Given the description of an element on the screen output the (x, y) to click on. 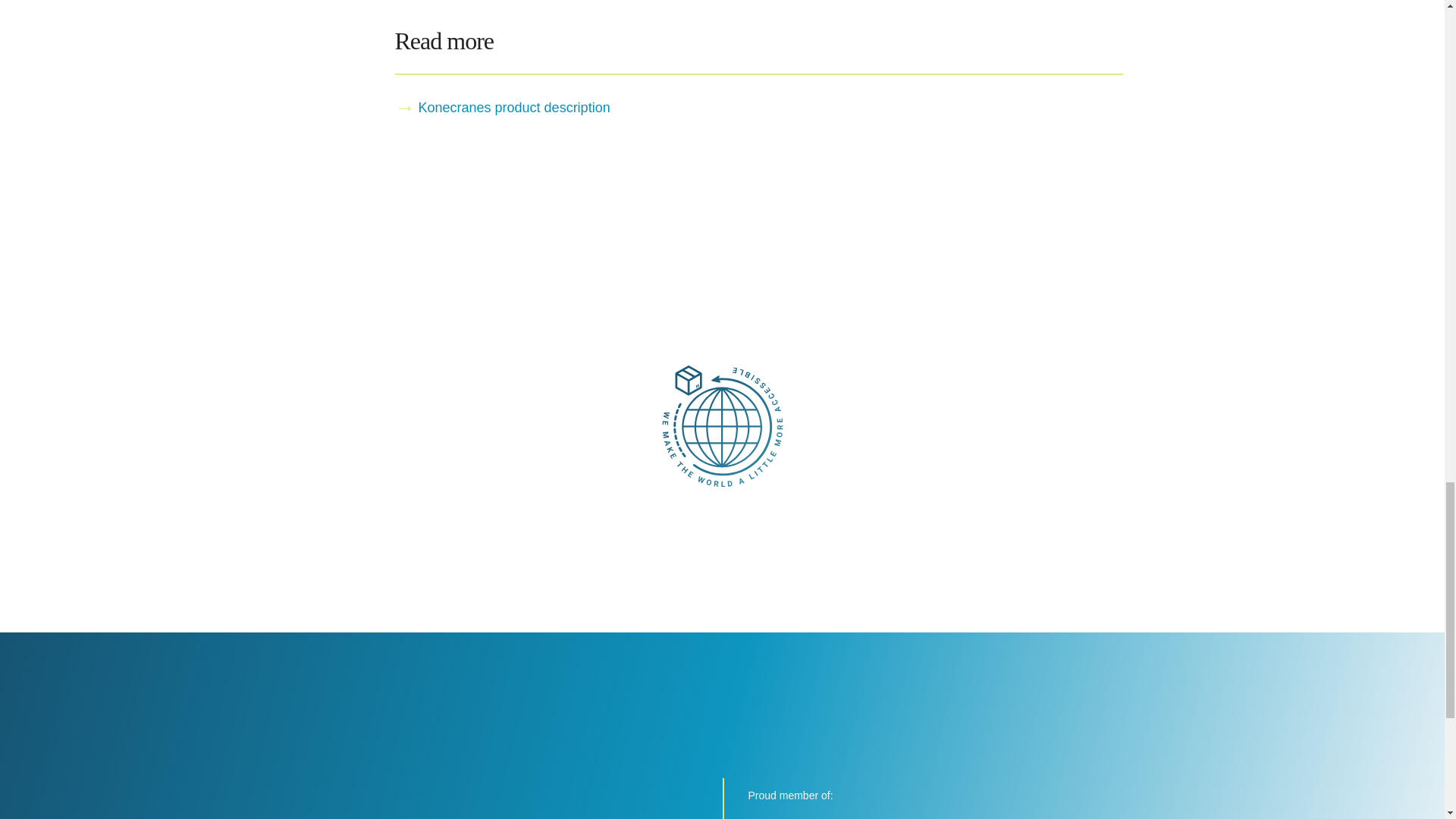
Konecranes product description (758, 107)
